Given the description of an element on the screen output the (x, y) to click on. 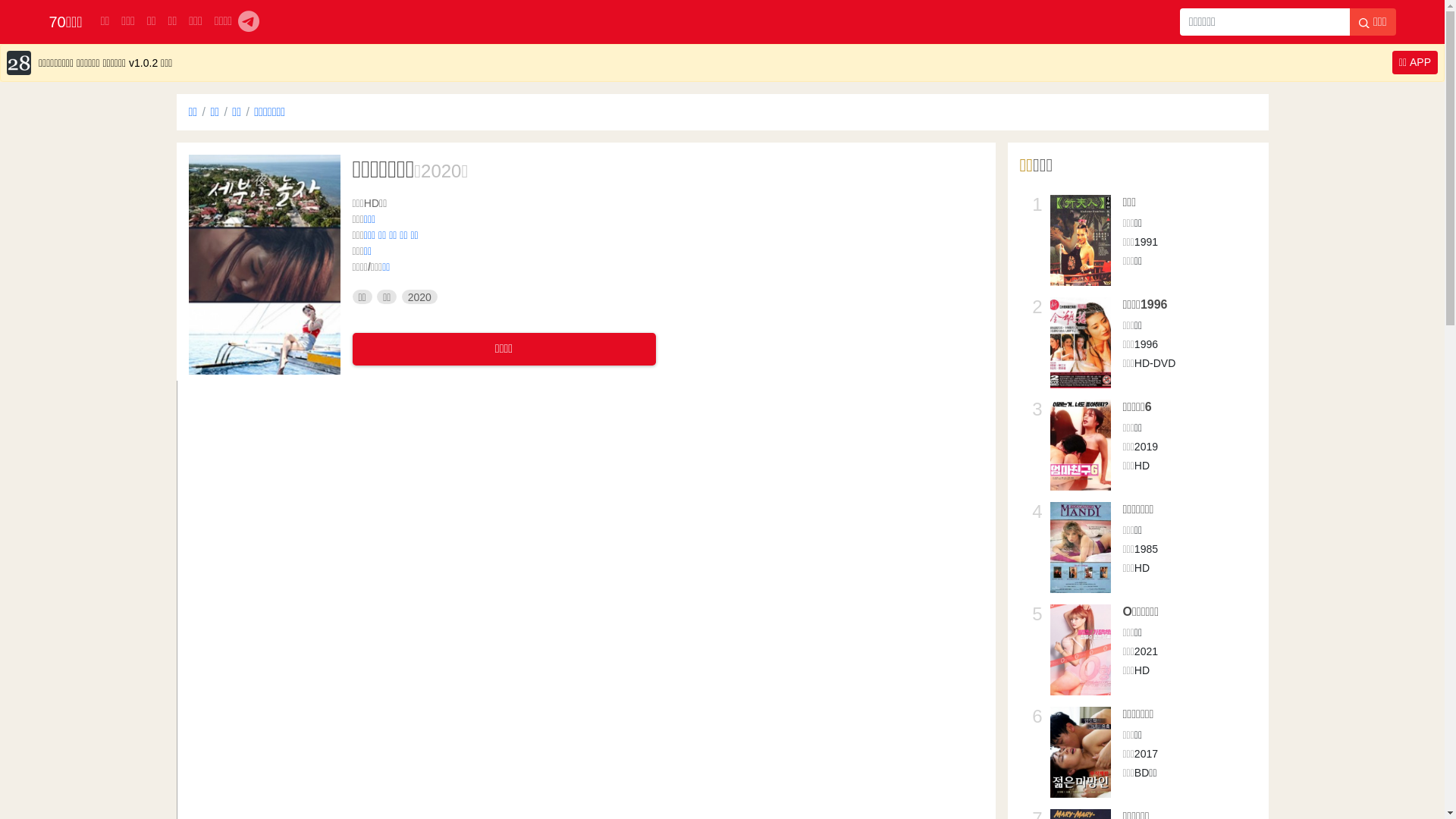
2020 Element type: text (440, 170)
2020 Element type: text (419, 296)
